Given the description of an element on the screen output the (x, y) to click on. 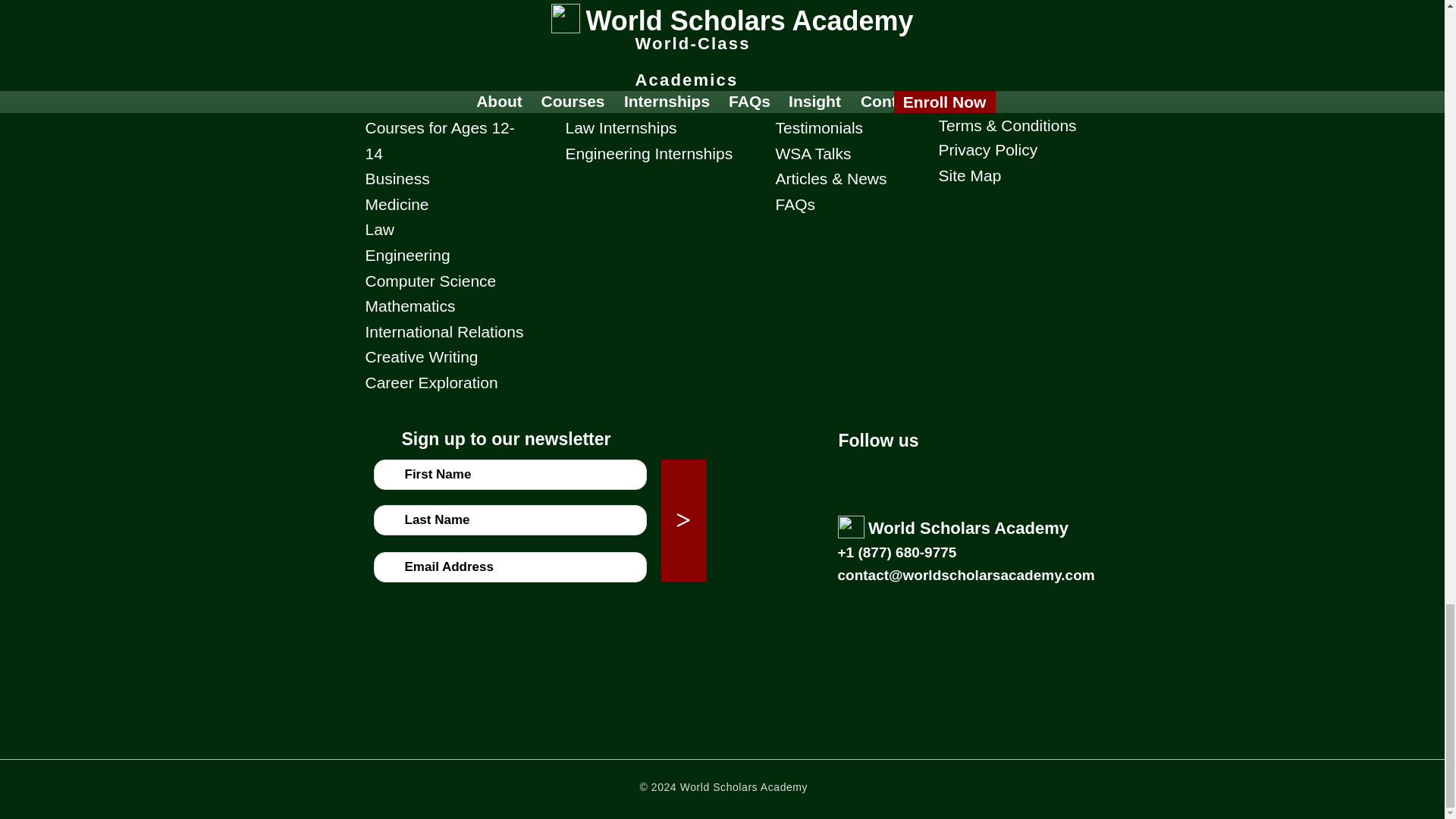
Law (379, 229)
Courses for Ages 12-14 (440, 140)
Career Exploration (431, 382)
Creative Writing (422, 356)
Medicine (397, 203)
Business (397, 178)
Internships (611, 51)
Course (395, 52)
International Relations (444, 331)
Mathematics (410, 305)
